Given the description of an element on the screen output the (x, y) to click on. 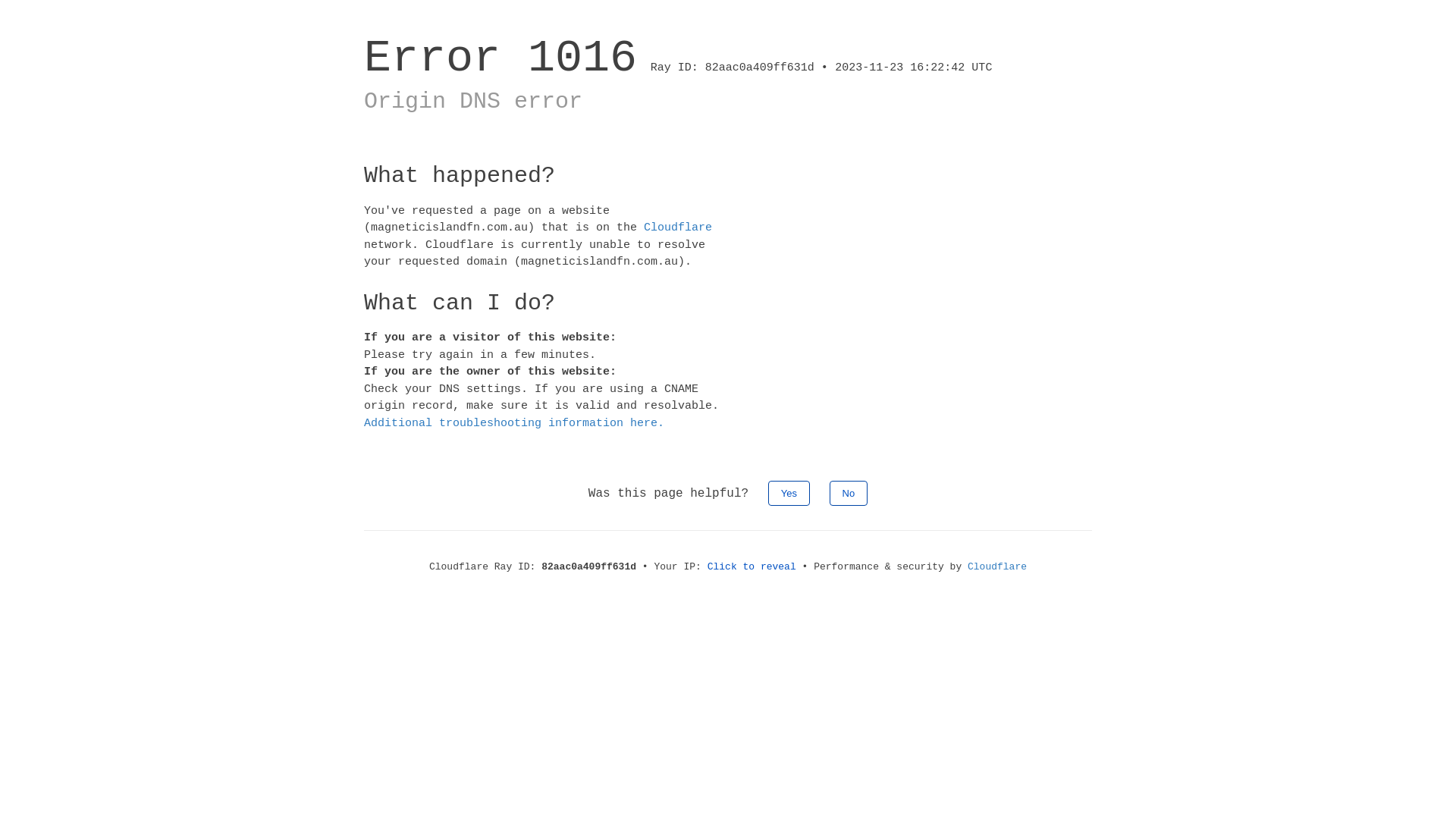
Cloudflare Element type: text (996, 566)
Yes Element type: text (788, 492)
Click to reveal Element type: text (751, 566)
No Element type: text (848, 492)
Cloudflare Element type: text (677, 227)
Additional troubleshooting information here. Element type: text (514, 423)
